Given the description of an element on the screen output the (x, y) to click on. 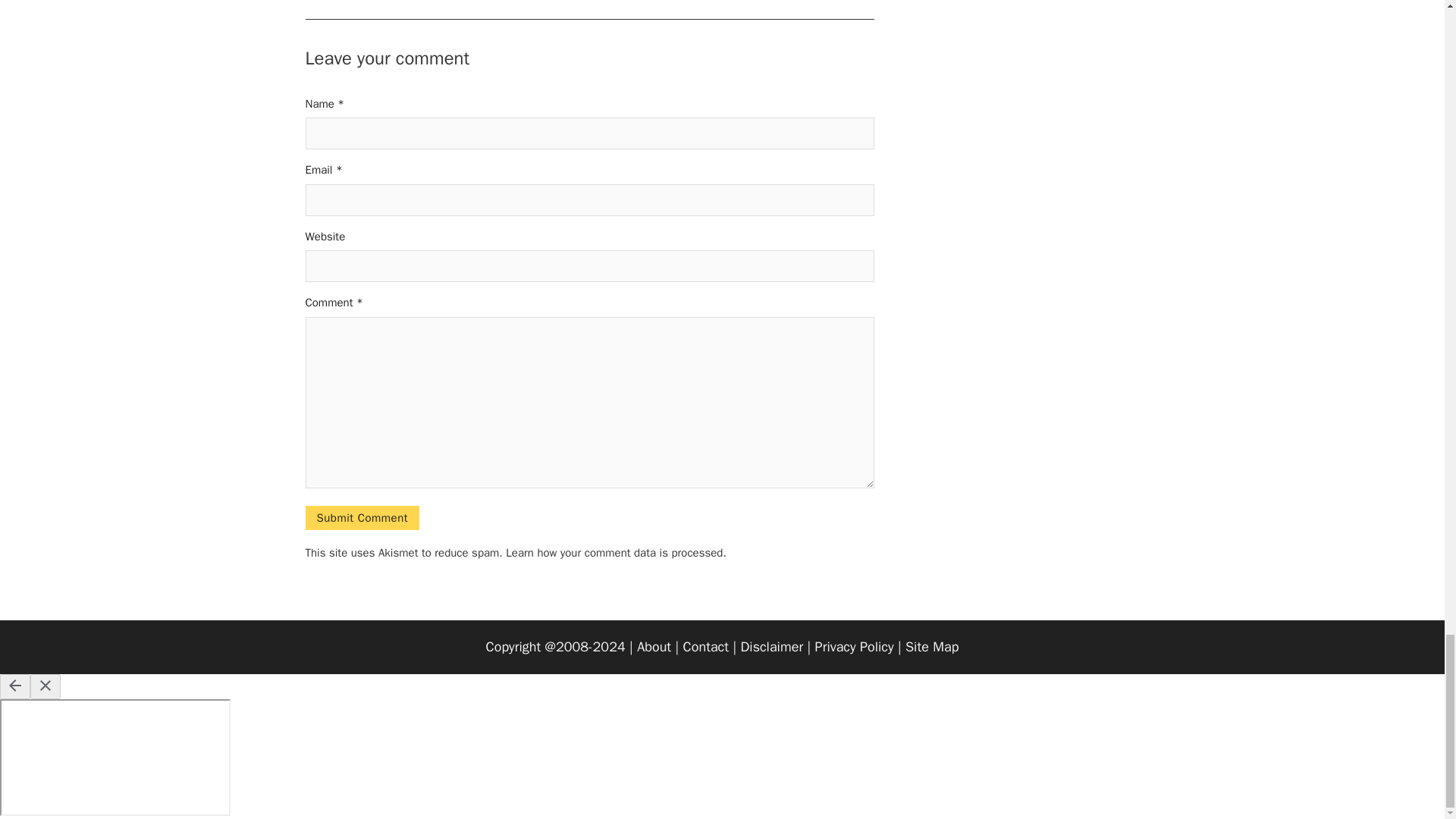
Submit Comment (361, 517)
Submit Comment (361, 517)
Learn how your comment data is processed (613, 552)
